Given the description of an element on the screen output the (x, y) to click on. 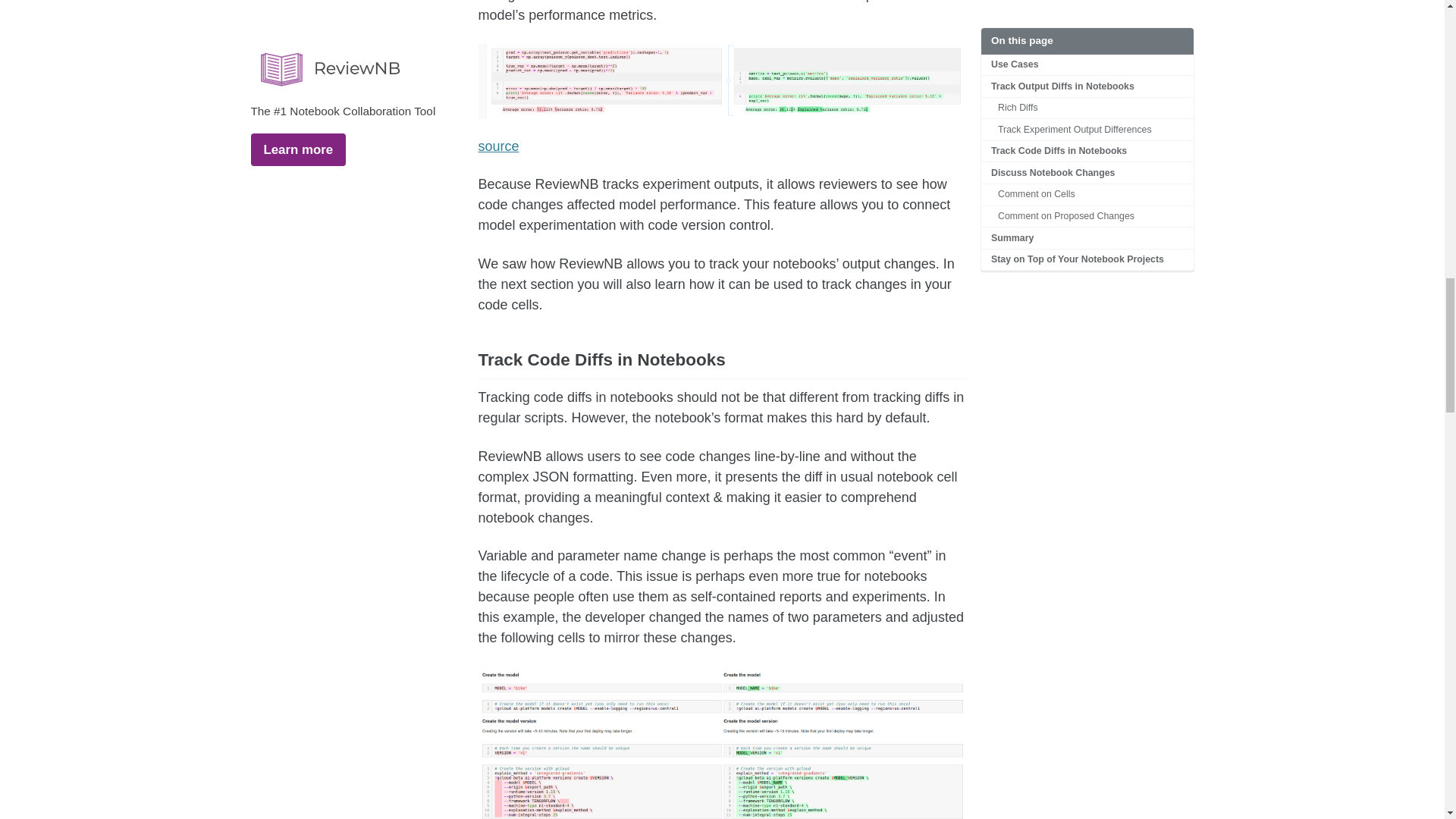
source (497, 145)
Track experiment output in ReviewNB (721, 81)
Track Variable Change in ReviewNB (721, 742)
